Given the description of an element on the screen output the (x, y) to click on. 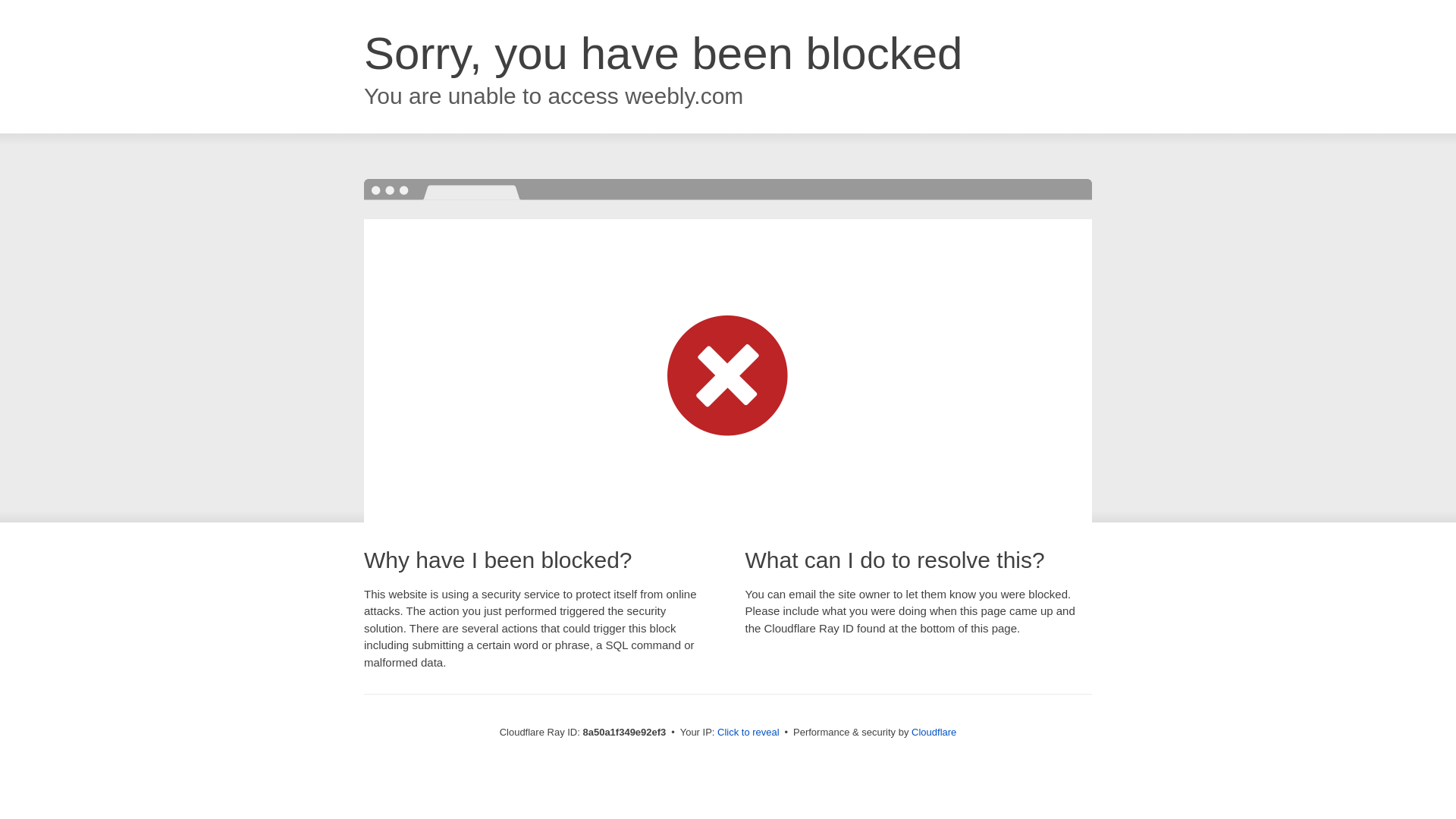
Cloudflare (933, 731)
Click to reveal (747, 732)
